Given the description of an element on the screen output the (x, y) to click on. 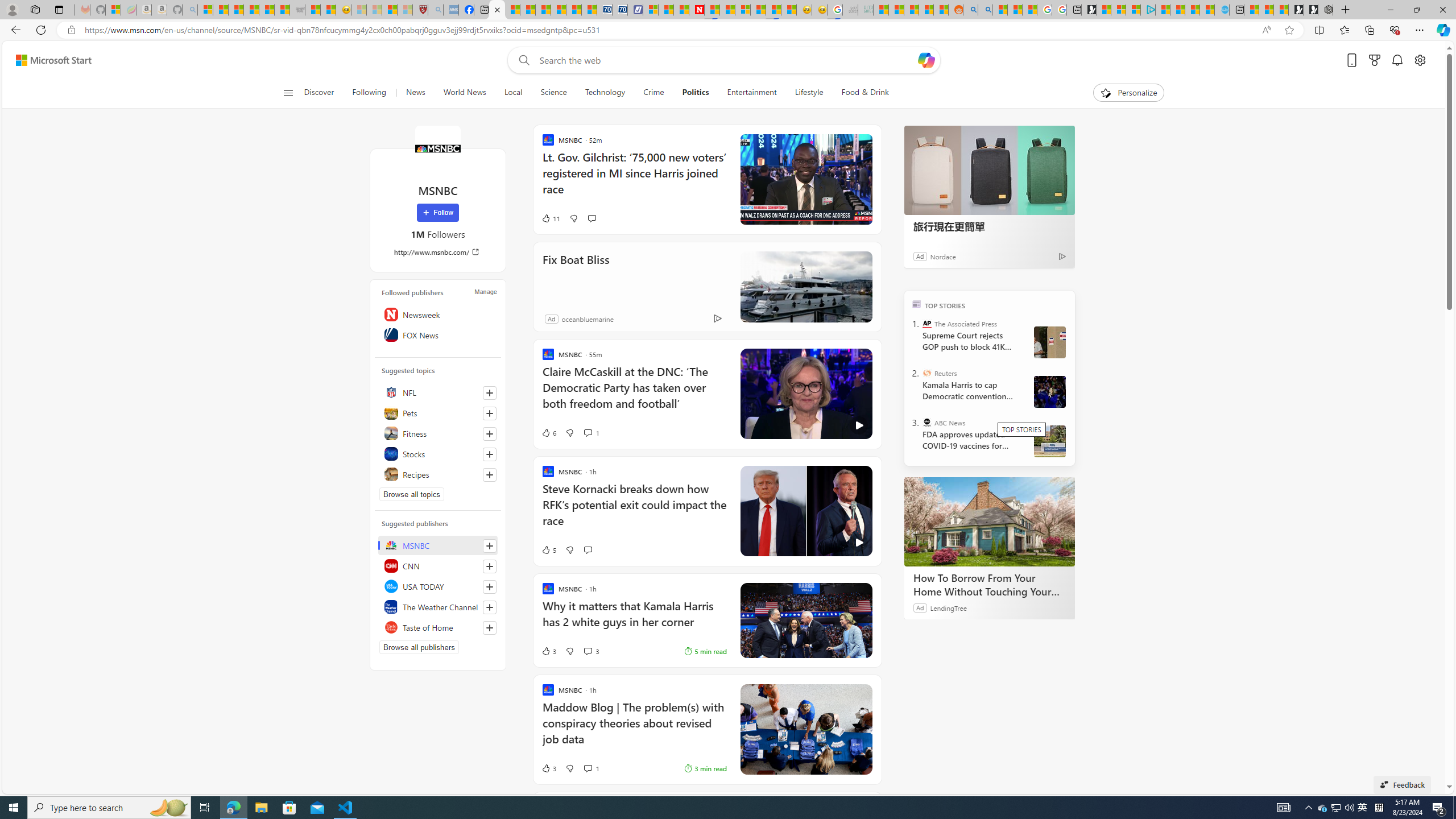
Reuters (927, 372)
